Given the description of an element on the screen output the (x, y) to click on. 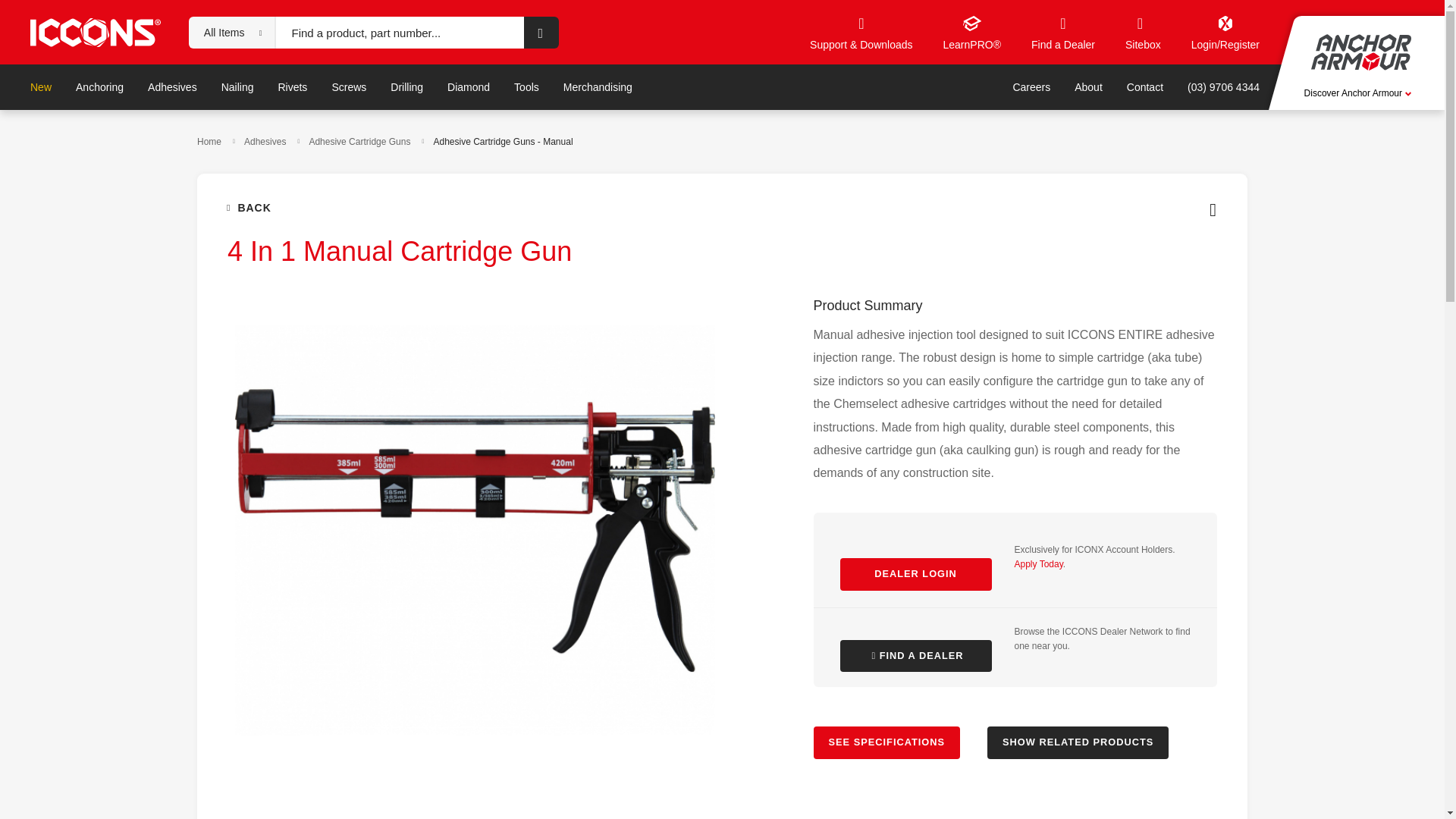
Discover Anchor Armour (1357, 92)
Redeem (594, 88)
All Items (223, 32)
DesignPRO (317, 88)
Home (168, 88)
TestPRO (385, 88)
LearnPRO (449, 88)
Sitebox (72, 88)
Dealer Benefits (1142, 32)
Find a Dealer (669, 88)
Product Range (1062, 32)
Find a Dealer (235, 88)
EXPLORE THE ANCHOR ARMOUR RANGE (524, 88)
ICCONS - The serious fixings wholesaler (1295, 88)
